Given the description of an element on the screen output the (x, y) to click on. 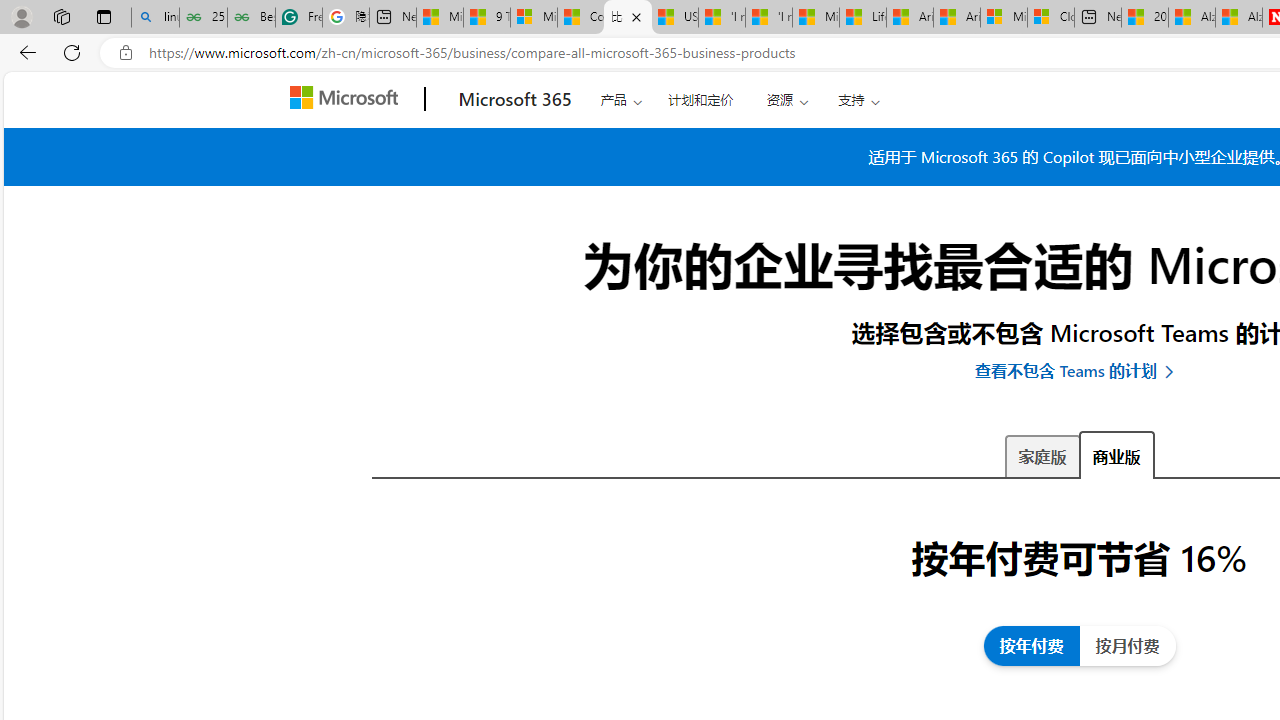
Lifestyle - MSN (862, 17)
Free AI Writing Assistance for Students | Grammarly (299, 17)
